Given the description of an element on the screen output the (x, y) to click on. 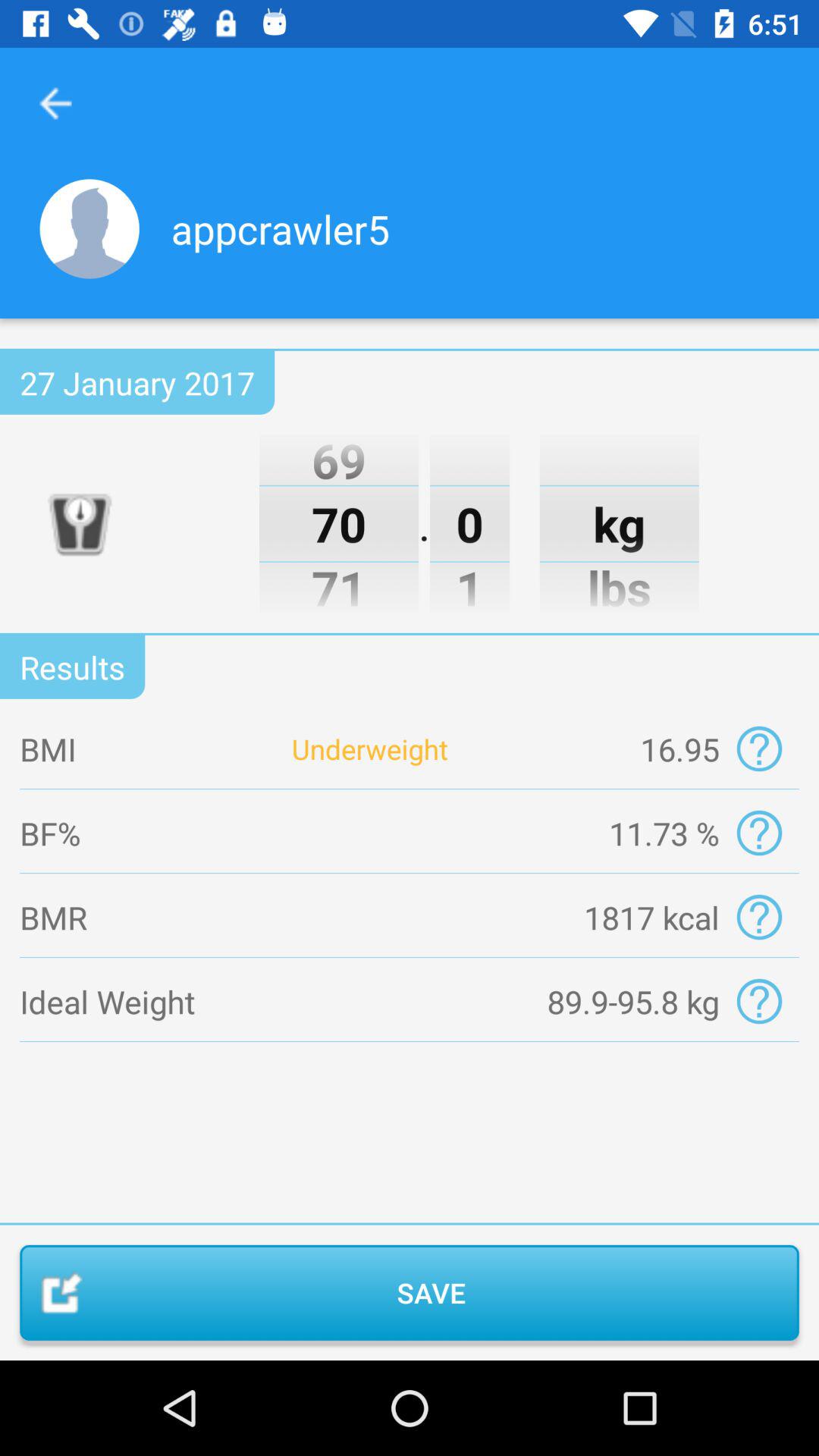
request information (759, 917)
